Given the description of an element on the screen output the (x, y) to click on. 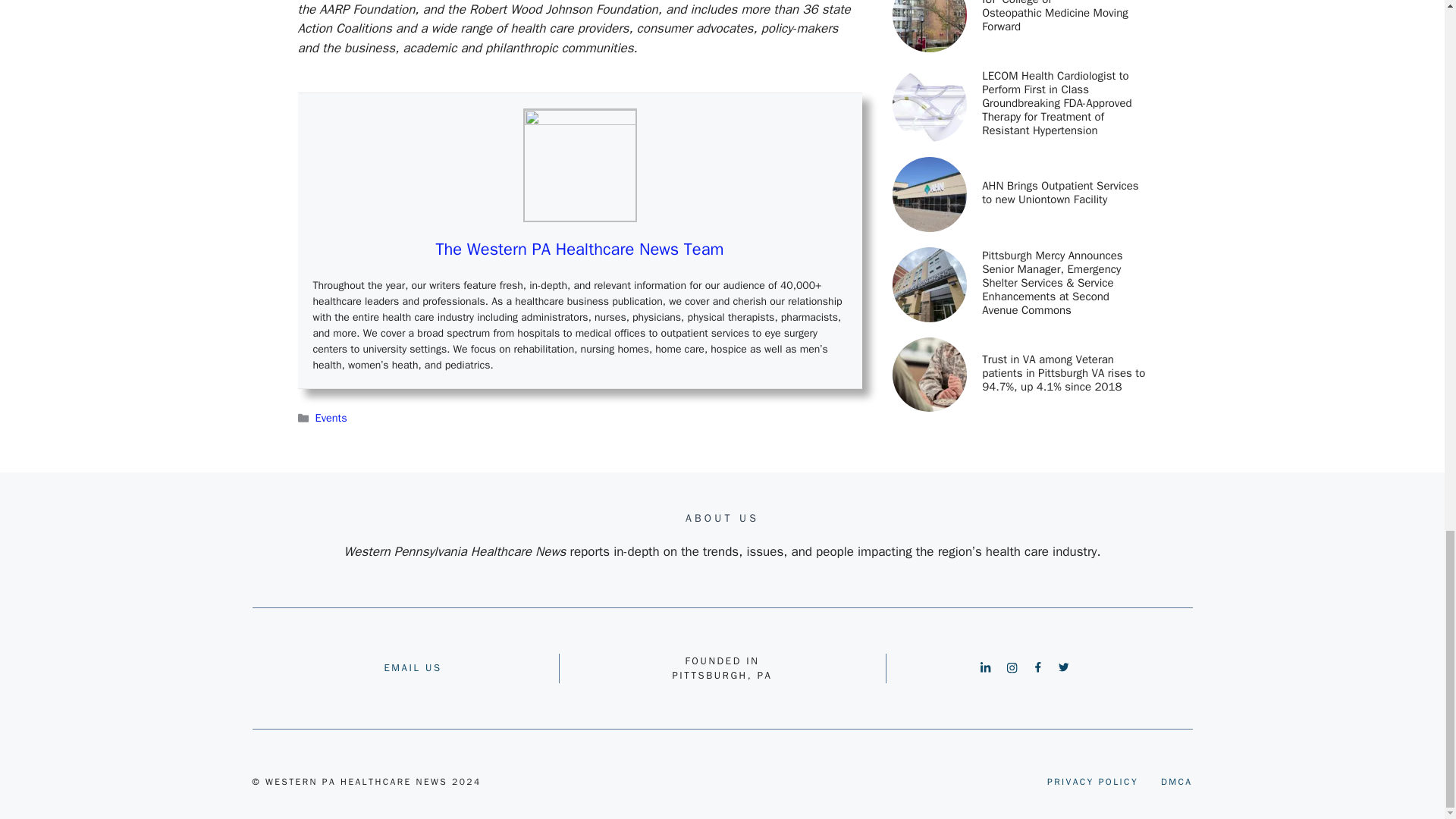
The Western PA Healthcare News Team (579, 249)
